Given the description of an element on the screen output the (x, y) to click on. 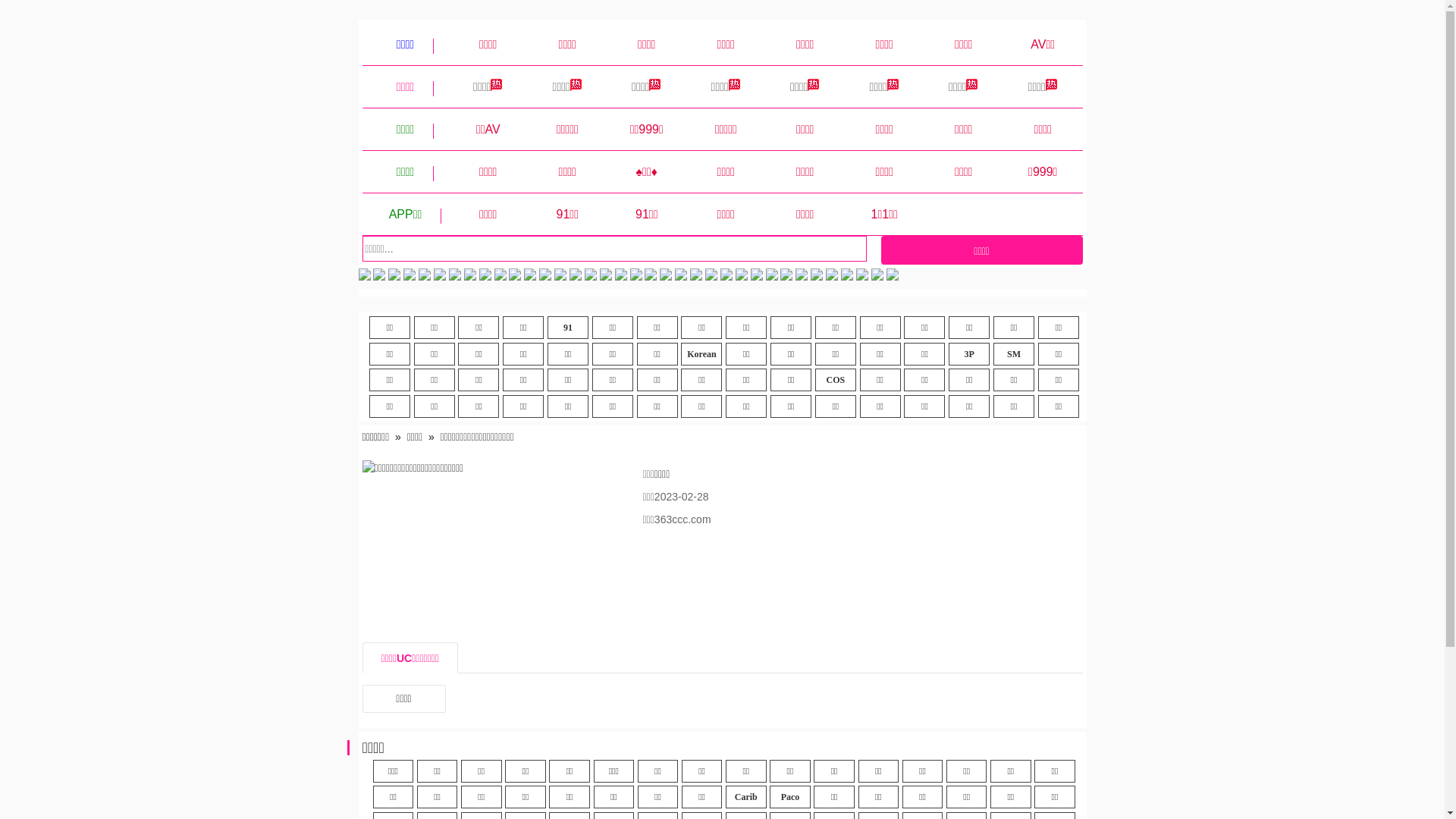
91 Element type: text (567, 327)
3P Element type: text (968, 353)
Carib Element type: text (745, 796)
Paco Element type: text (789, 796)
Korean Element type: text (700, 353)
SM Element type: text (1013, 353)
COS Element type: text (835, 379)
